Given the description of an element on the screen output the (x, y) to click on. 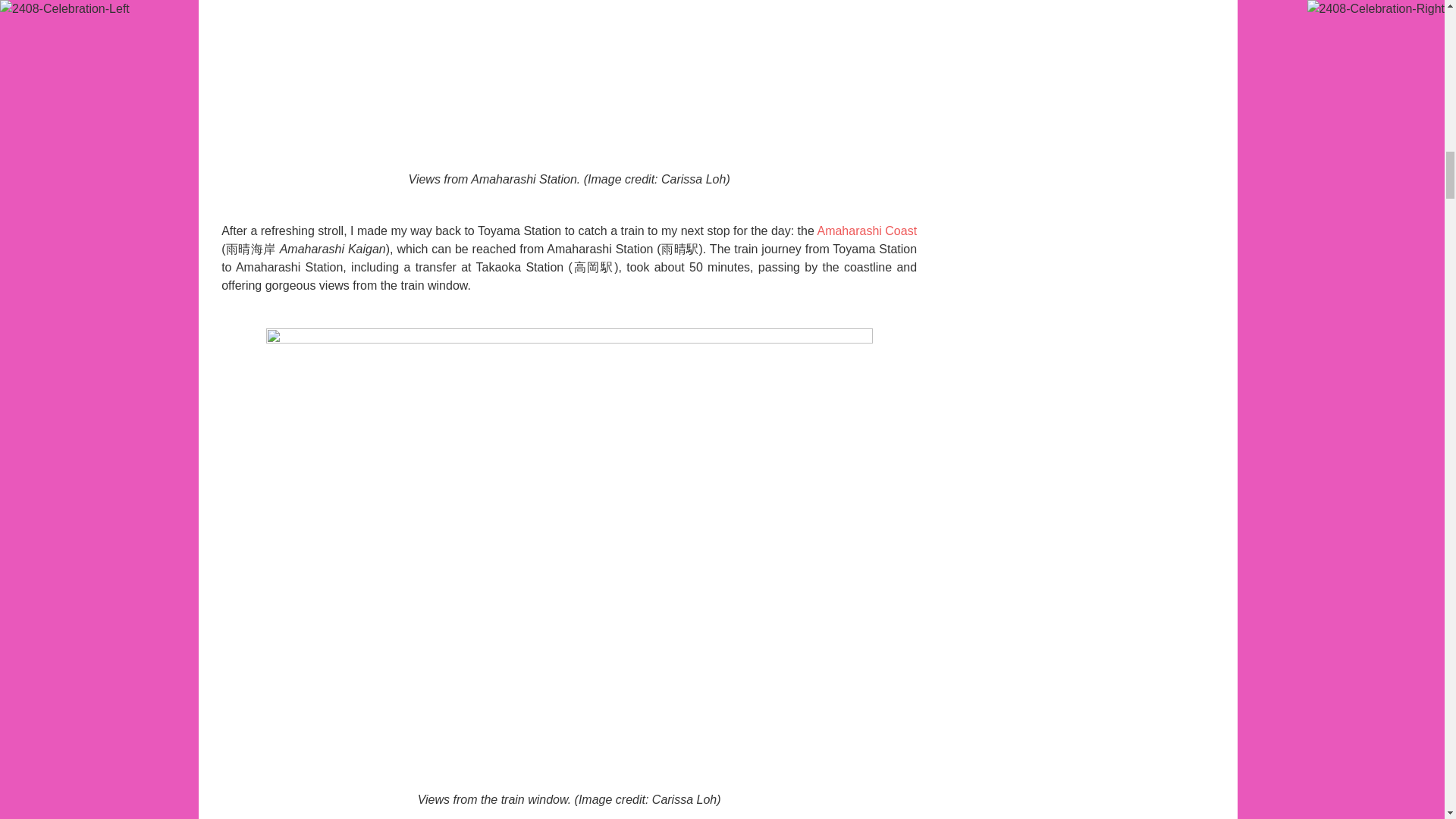
Amaharashi Coast (866, 230)
